Given the description of an element on the screen output the (x, y) to click on. 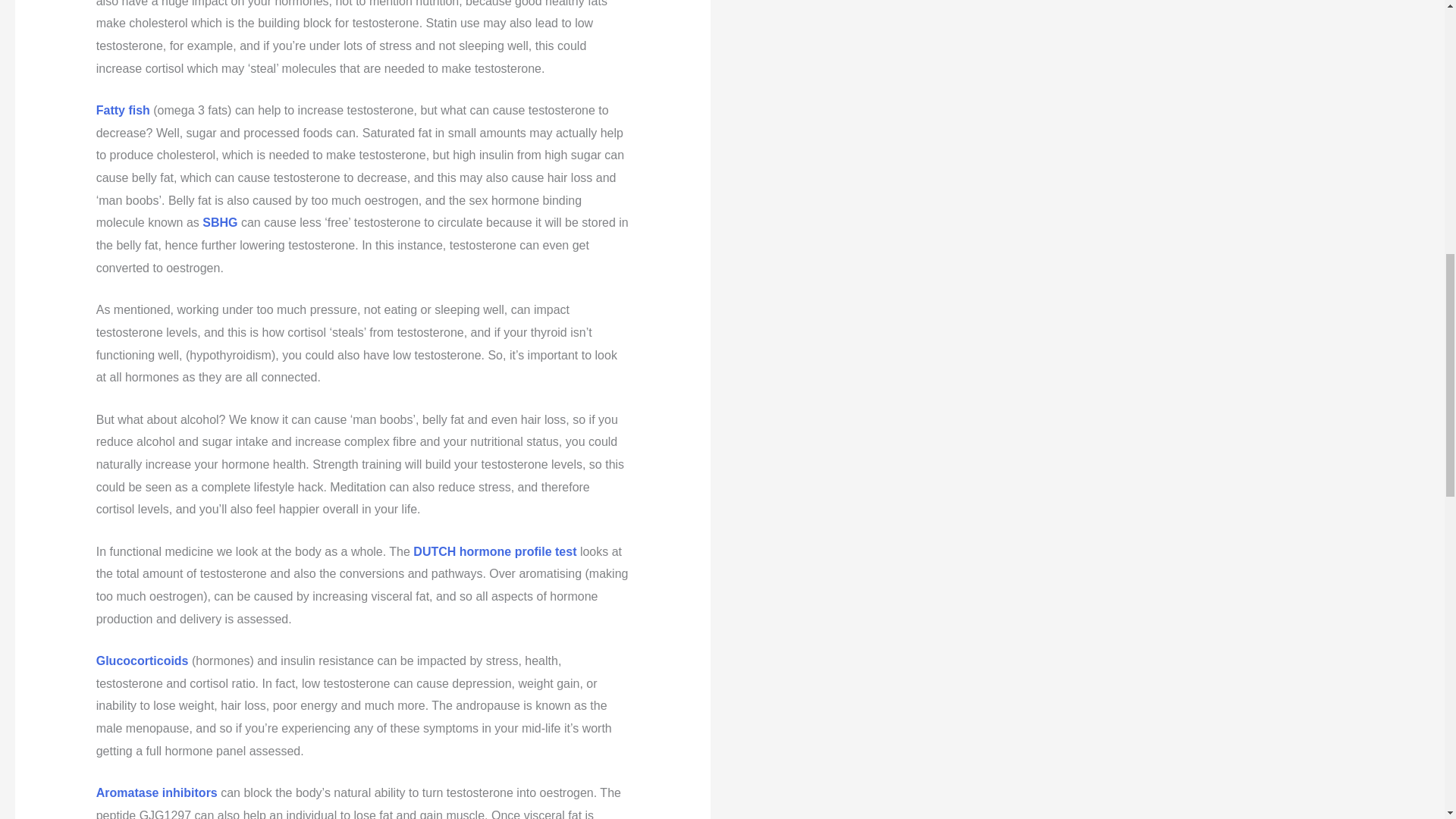
Glucocorticoids (142, 660)
DUTCH hormone profile test (494, 551)
Fatty fish (122, 110)
Aromatase inhibitors (156, 792)
SBHG (219, 222)
